Given the description of an element on the screen output the (x, y) to click on. 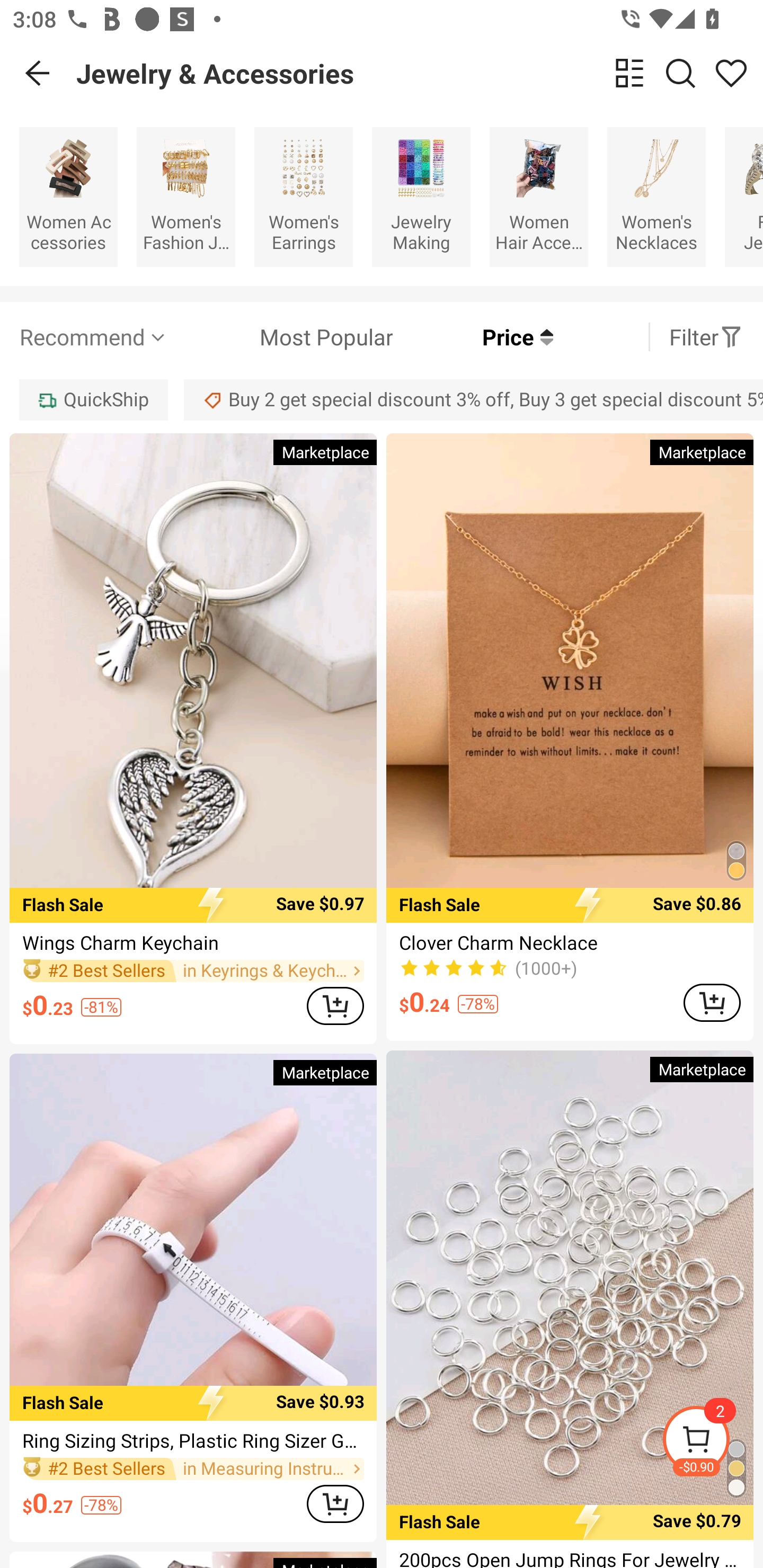
Jewelry & Accessories change view Search Share (419, 72)
change view (629, 72)
Search (679, 72)
Share (730, 72)
Women Accessories (68, 196)
Women's Fashion Jewelry (185, 196)
Women's Earrings (303, 196)
Jewelry Making (421, 196)
Women Hair Accessories (538, 196)
Women's Necklaces (656, 196)
Recommend (93, 336)
Most Popular (280, 336)
Price (472, 336)
Filter (705, 336)
QuickShip (93, 399)
#2 Best Sellers in Keyrings & Keychains (192, 970)
ADD TO CART (711, 1002)
ADD TO CART (334, 1005)
-$0.90 (712, 1441)
#2 Best Sellers in Measuring Instruments (192, 1468)
ADD TO CART (334, 1503)
